Given the description of an element on the screen output the (x, y) to click on. 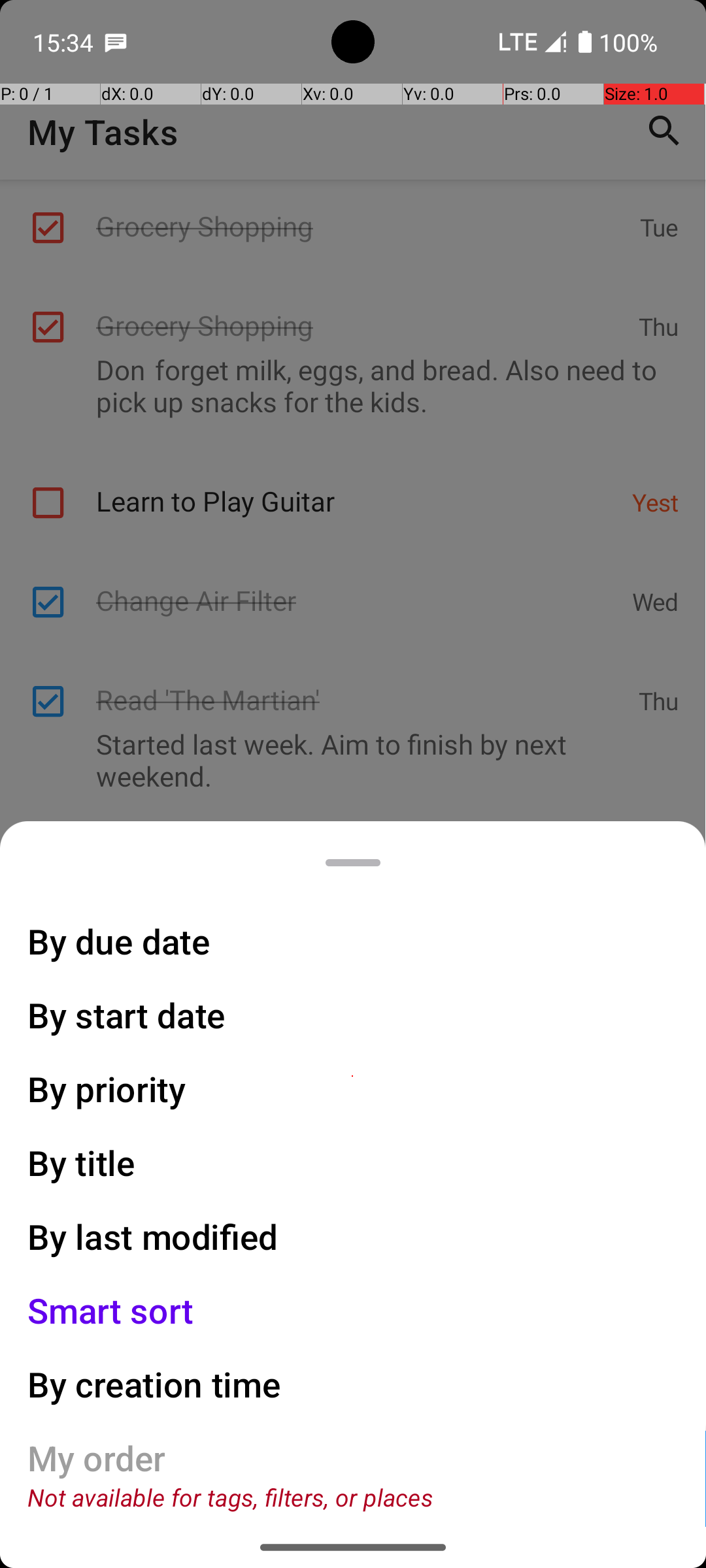
Drag handle Element type: android.view.View (352, 862)
By due date Element type: android.widget.TextView (119, 940)
By start date Element type: android.widget.TextView (126, 1014)
By priority Element type: android.widget.TextView (106, 1088)
By title Element type: android.widget.TextView (81, 1162)
By last modified Element type: android.widget.TextView (152, 1236)
Smart sort Element type: android.widget.TextView (110, 1310)
By creation time Element type: android.widget.TextView (154, 1383)
My order Element type: android.widget.TextView (96, 1457)
Not available for tags, filters, or places Element type: android.widget.TextView (230, 1497)
